Given the description of an element on the screen output the (x, y) to click on. 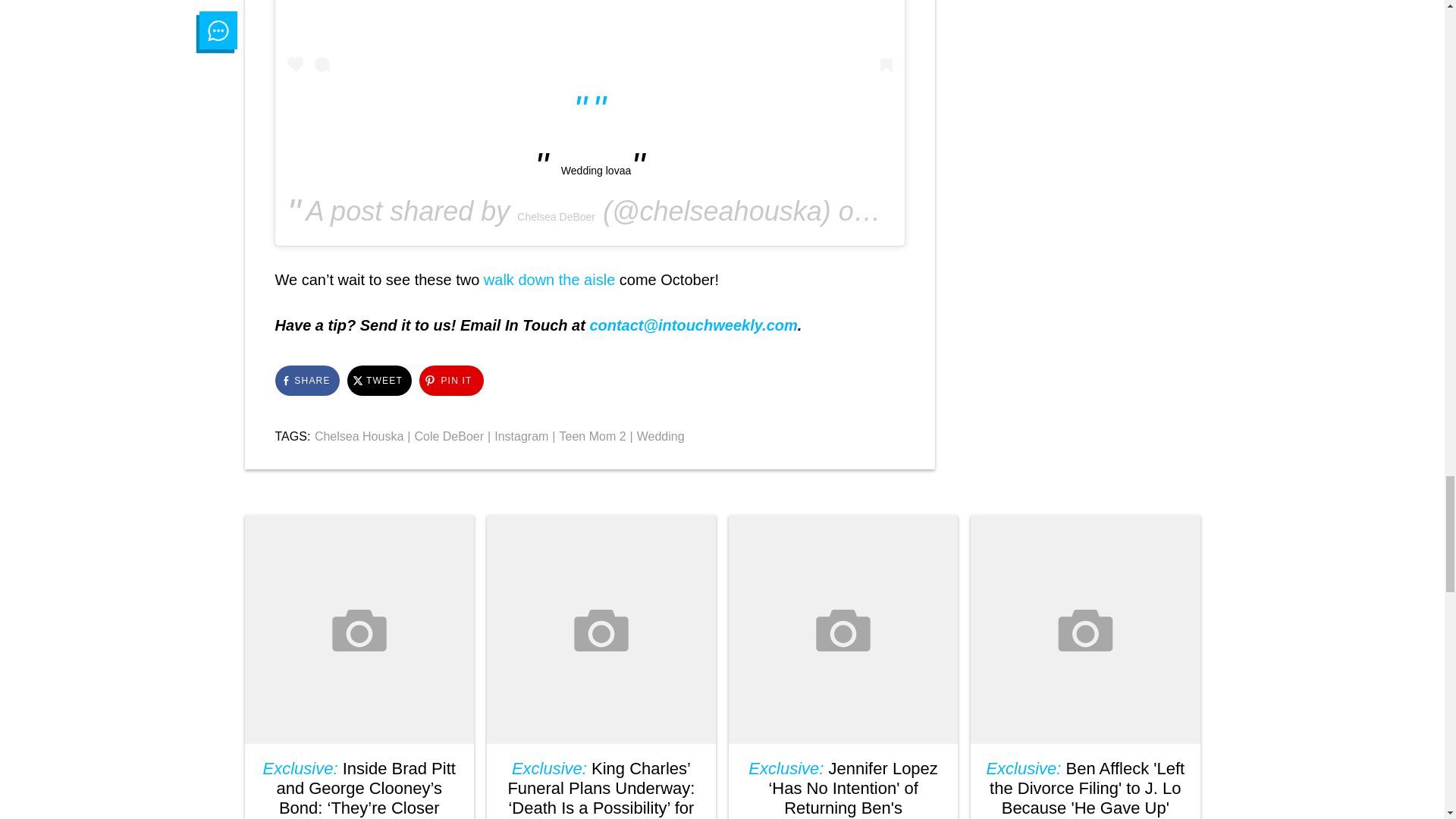
Click to share on Pinterest (451, 380)
Click to share on Facebook (307, 380)
Click to share on Twitter (379, 380)
